Given the description of an element on the screen output the (x, y) to click on. 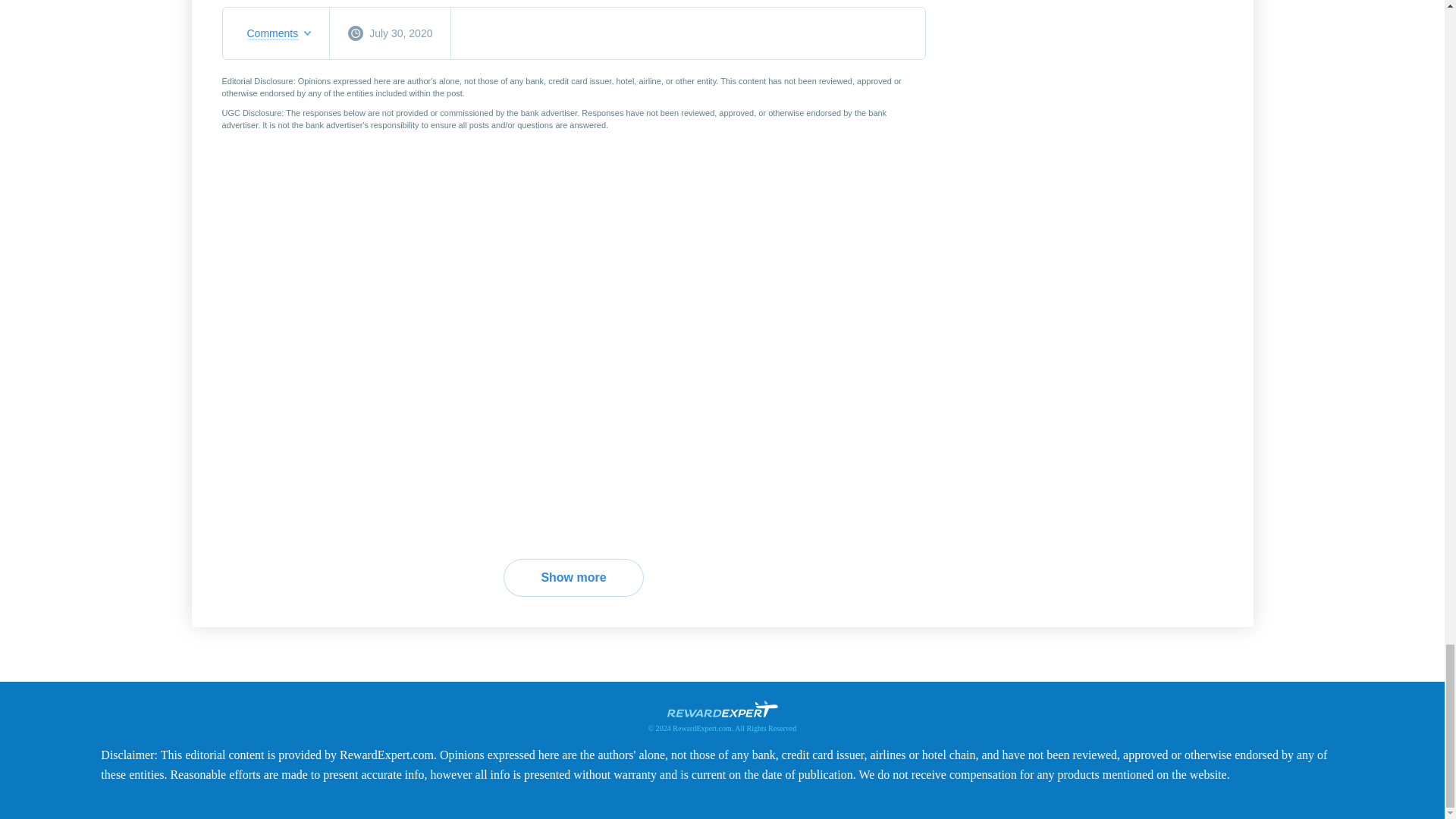
Show more (573, 577)
